Given the description of an element on the screen output the (x, y) to click on. 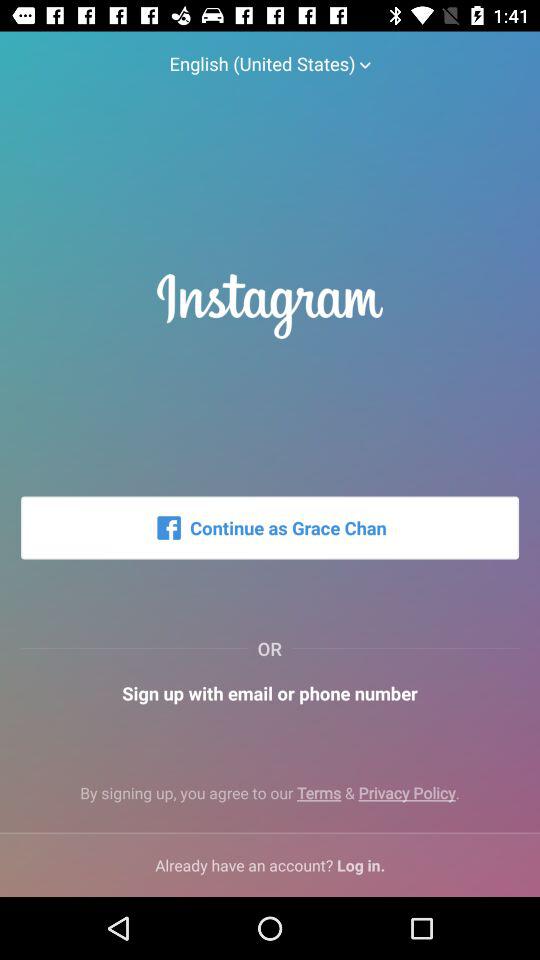
select by signing up icon (269, 800)
